Given the description of an element on the screen output the (x, y) to click on. 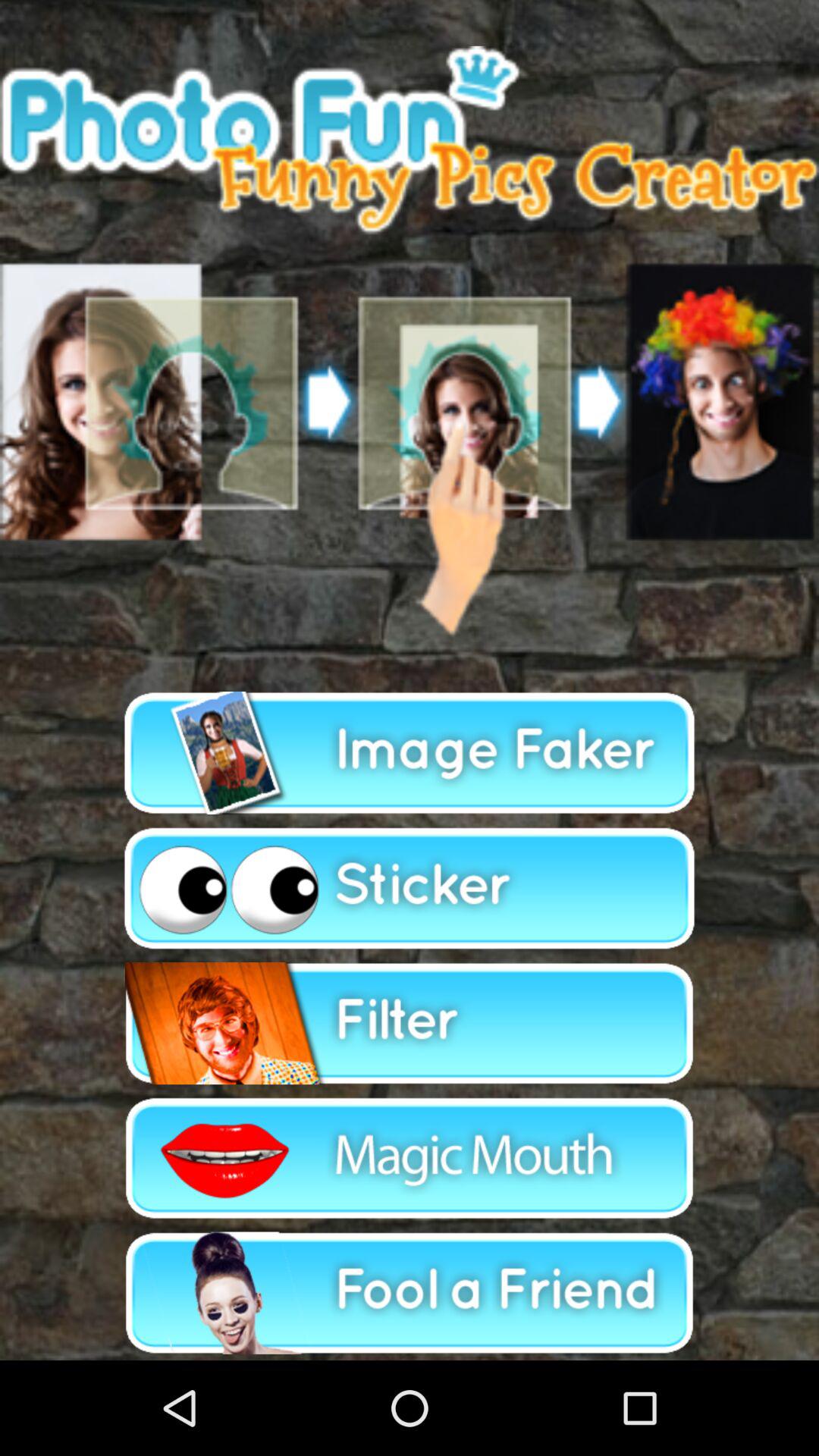
go to pic creator (409, 752)
